Given the description of an element on the screen output the (x, y) to click on. 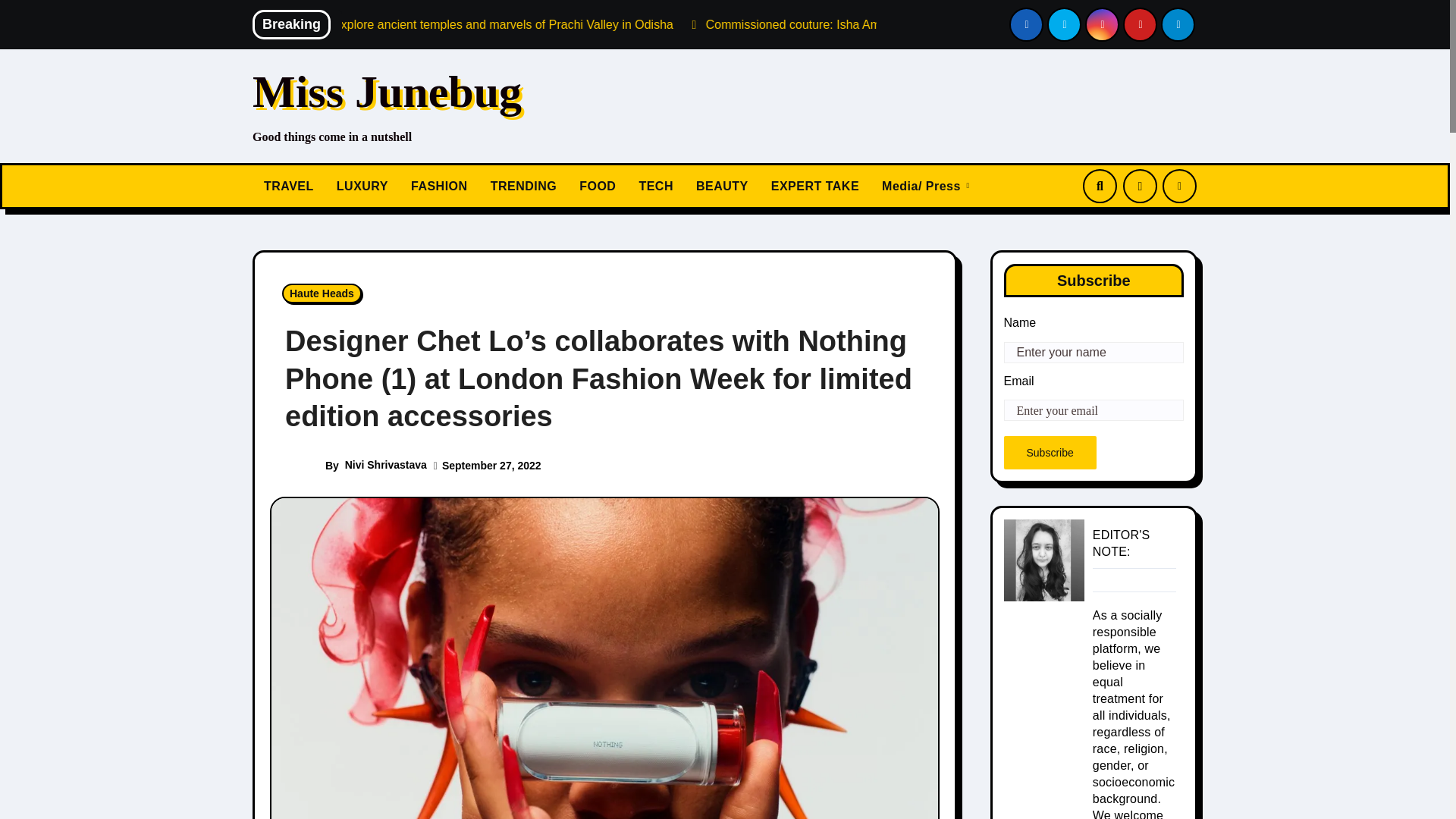
TRAVEL (287, 187)
FASHION (438, 187)
TRAVEL (287, 187)
Haute Heads (321, 293)
FOOD (597, 187)
Nivi Shrivastava (385, 464)
TECH (655, 187)
TRENDING (524, 187)
EXPERT TAKE (815, 187)
Subscribe (1050, 452)
